Given the description of an element on the screen output the (x, y) to click on. 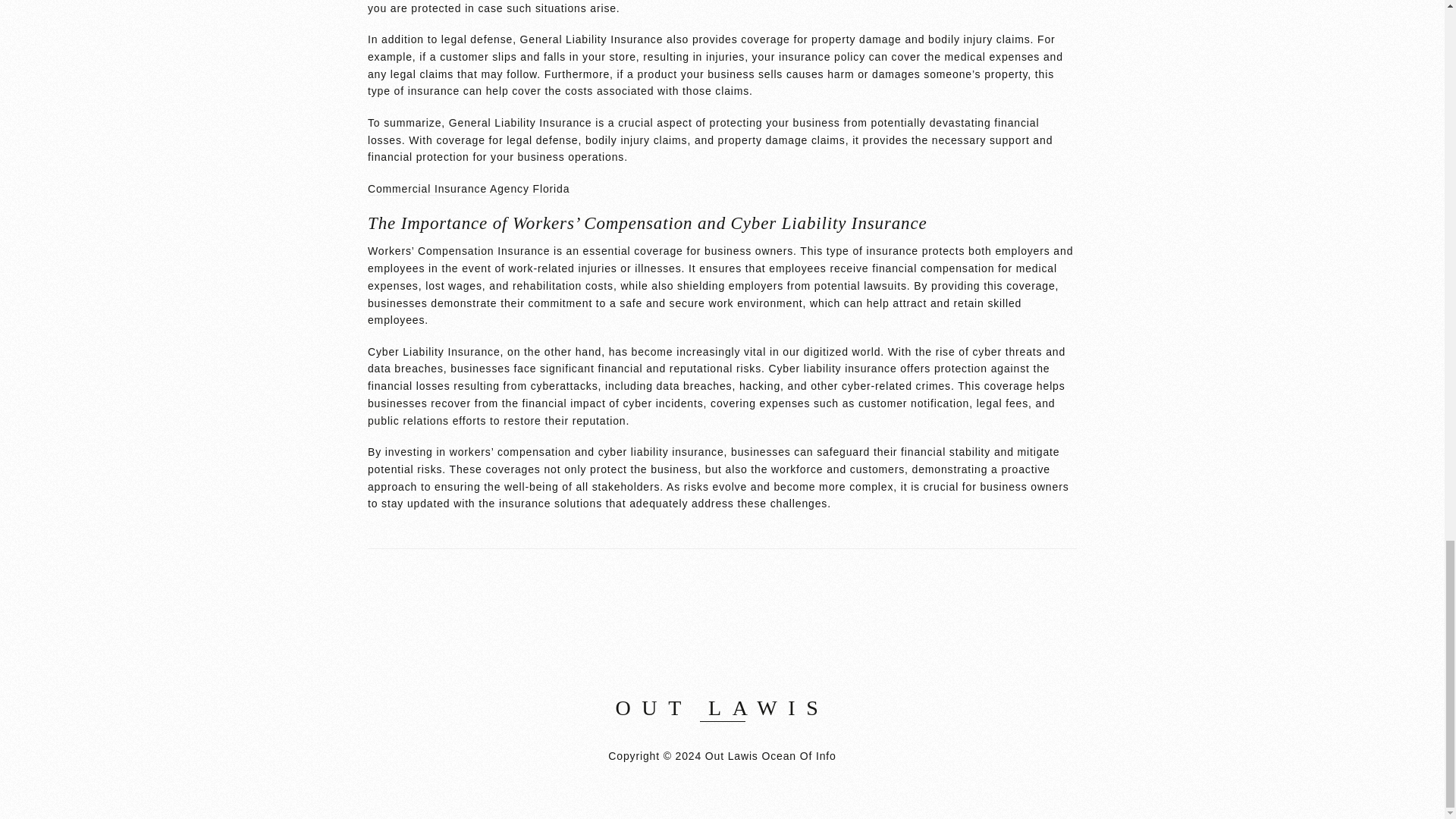
Commercial Insurance Agency Florida (468, 188)
